Given the description of an element on the screen output the (x, y) to click on. 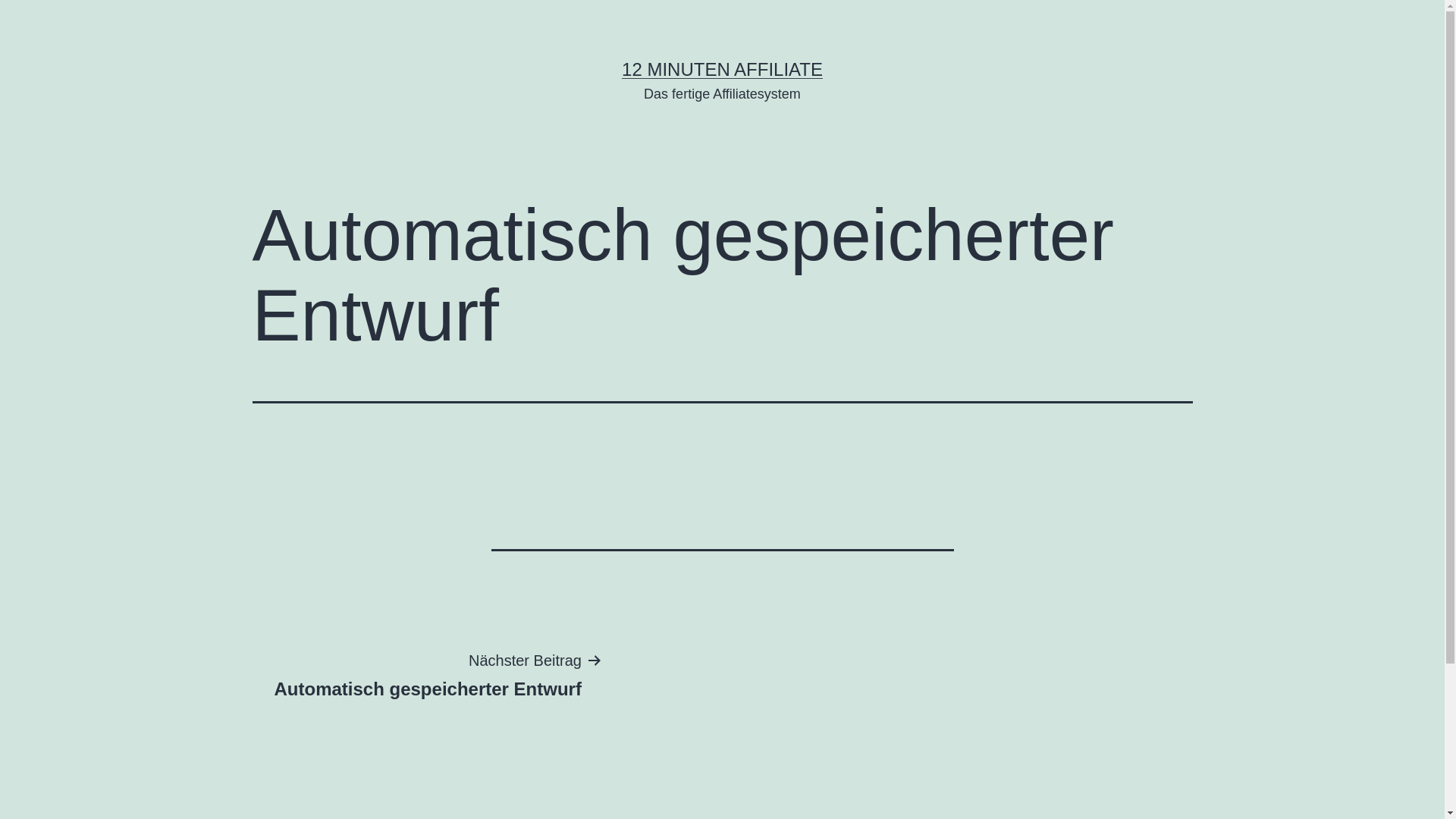
12 MINUTEN AFFILIATE Element type: text (721, 69)
